Given the description of an element on the screen output the (x, y) to click on. 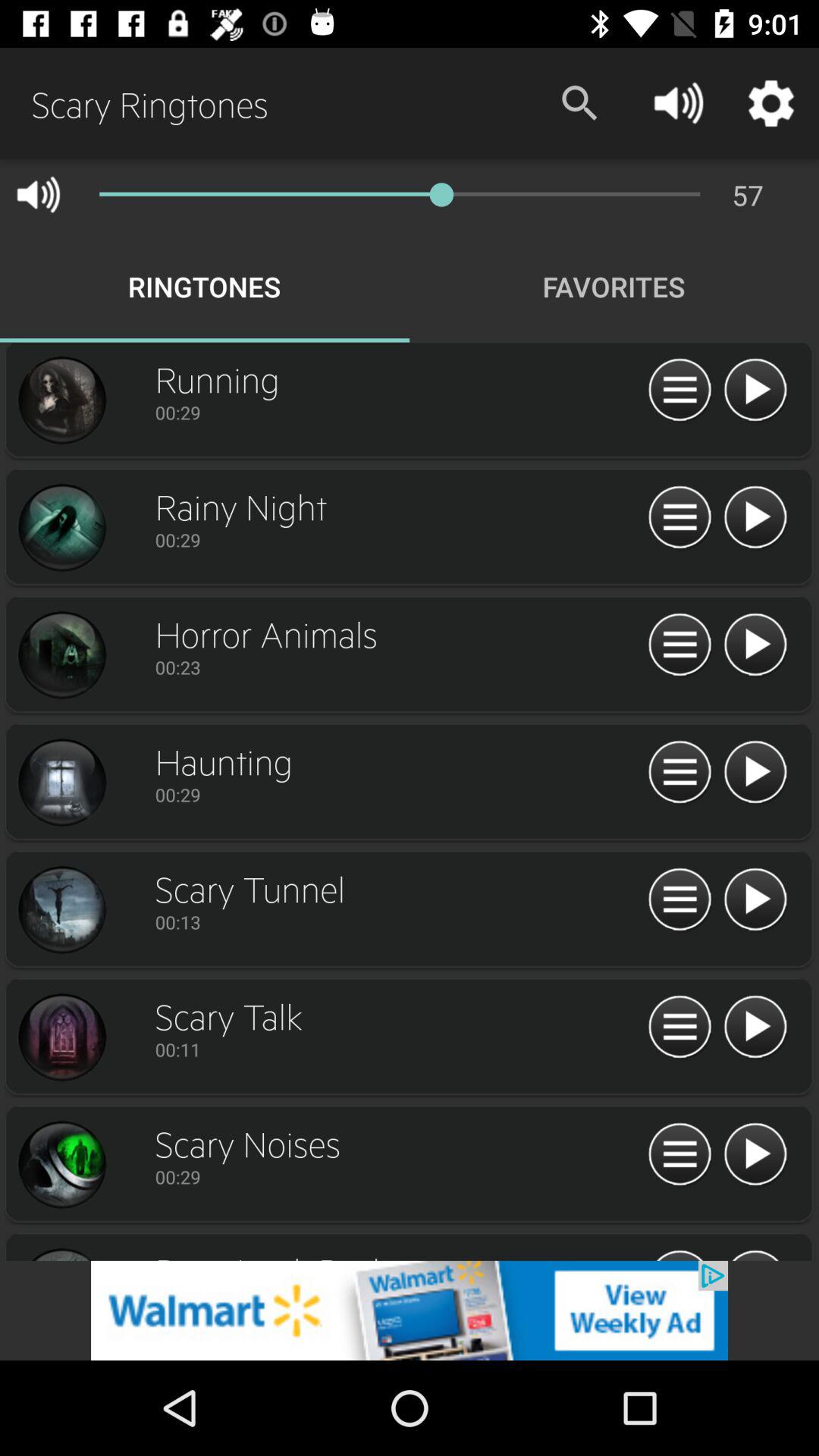
song (679, 772)
